Given the description of an element on the screen output the (x, y) to click on. 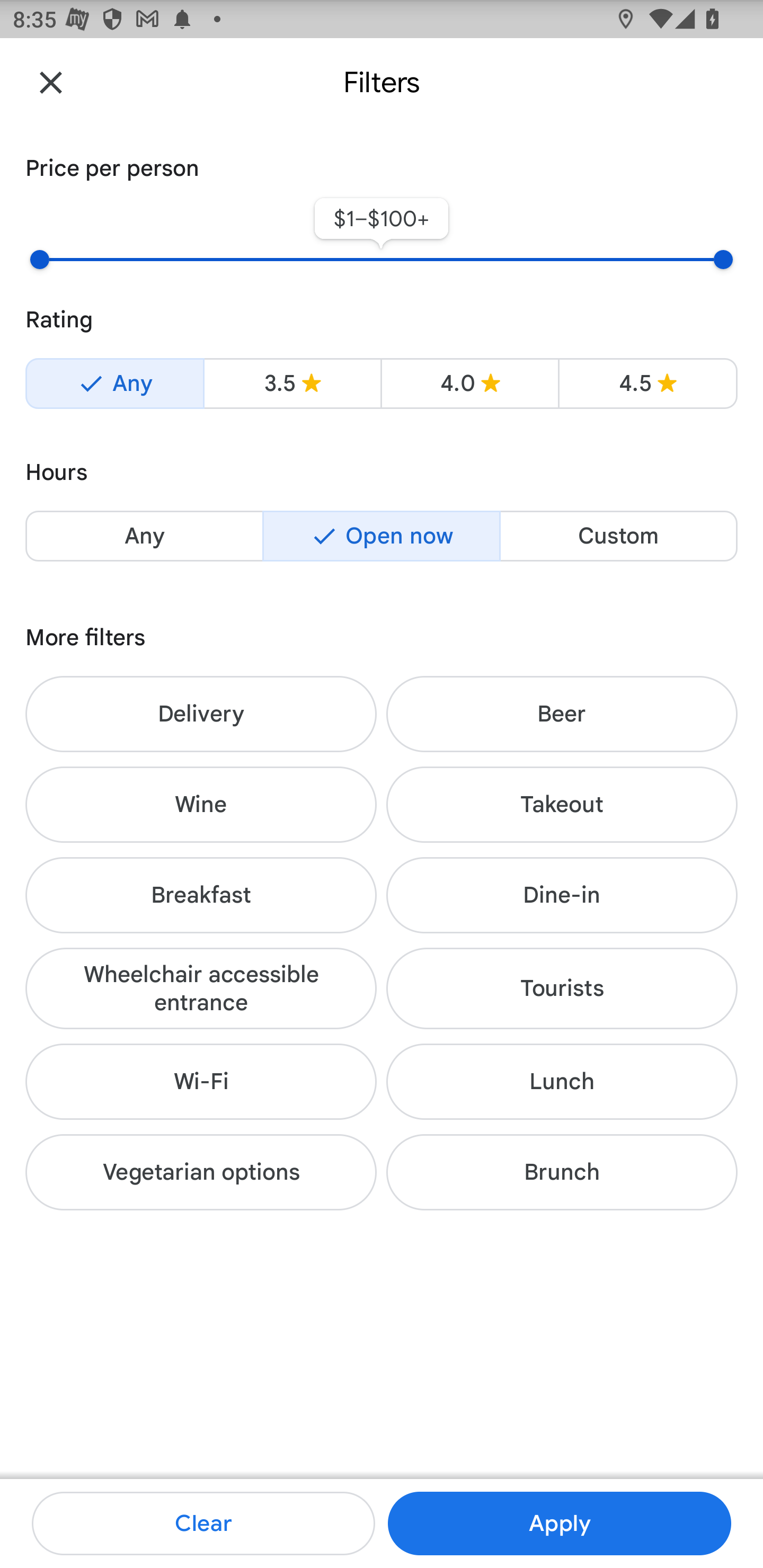
Close menu (50, 81)
Any (114, 382)
3.5 stars (292, 382)
4.0 stars (469, 382)
4.5 stars (647, 382)
Any (144, 535)
Open now (381, 535)
Custom (618, 535)
Delivery (200, 713)
Beer (561, 713)
Wine (200, 804)
Takeout (561, 804)
Breakfast (200, 894)
Dine-in (561, 894)
Wheelchair accessible entrance (200, 987)
Tourists (561, 987)
Wi-Fi (200, 1081)
Lunch (561, 1081)
Vegetarian options (200, 1171)
Brunch (561, 1171)
Clear Clear Clear (203, 1522)
Apply Apply Apply (558, 1522)
